Given the description of an element on the screen output the (x, y) to click on. 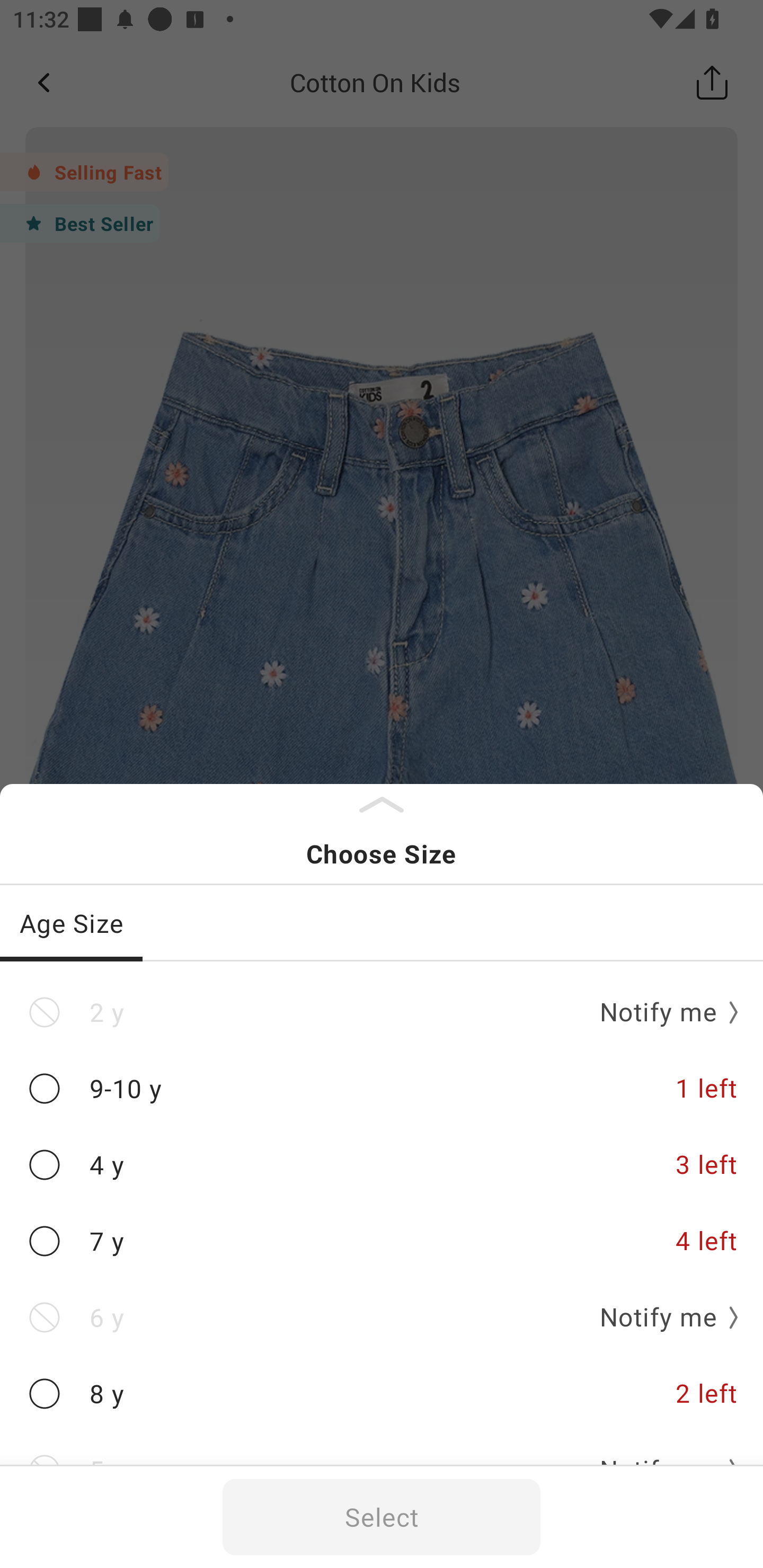
2 y Notify me (381, 1011)
Notify me (661, 1012)
9-10 y 1 left (381, 1088)
4 y 3 left (381, 1164)
7 y 4 left (381, 1240)
6 y Notify me (381, 1317)
Notify me (661, 1317)
8 y 2 left (381, 1393)
Select (381, 1516)
